Given the description of an element on the screen output the (x, y) to click on. 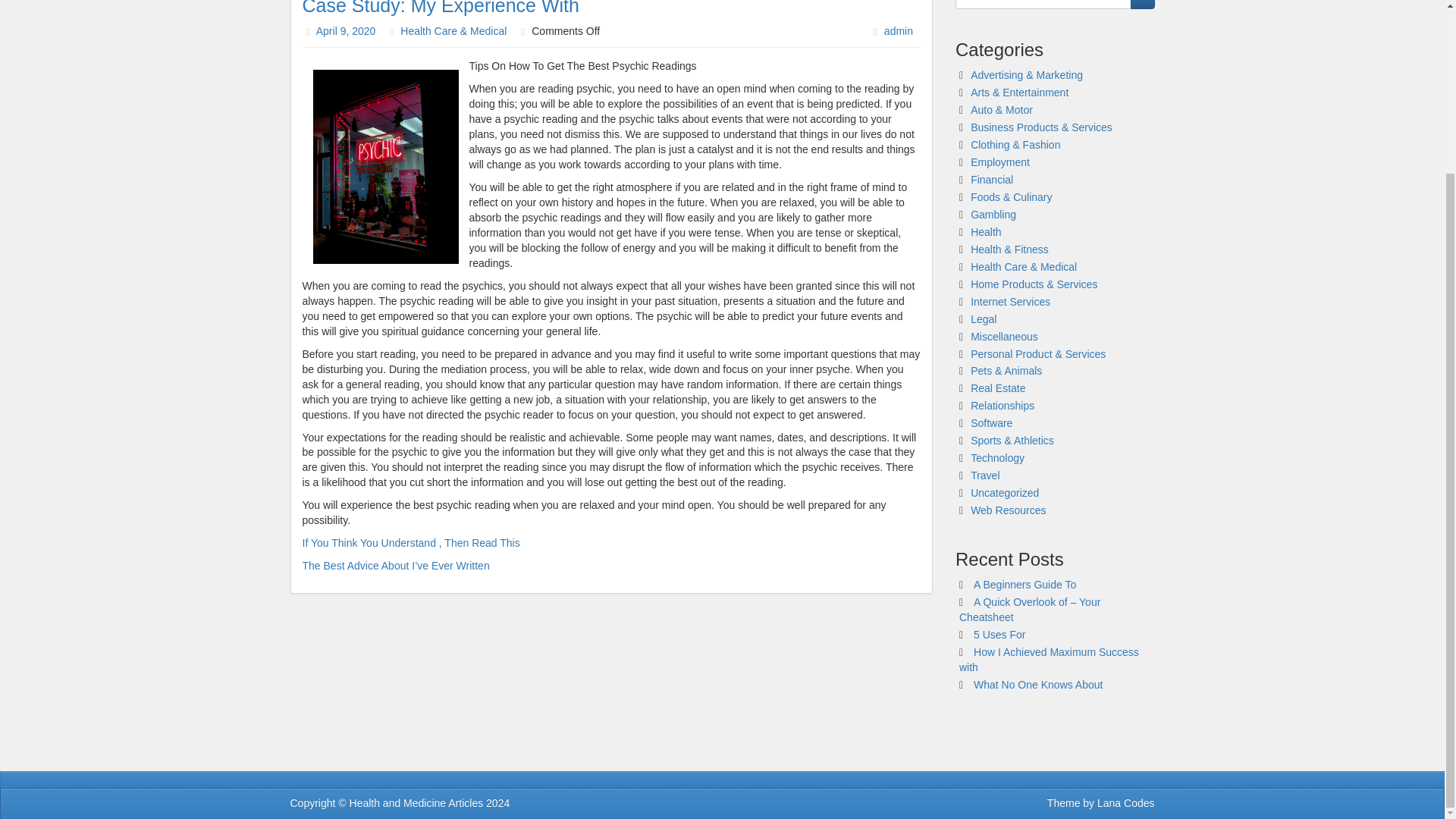
Real Estate (998, 387)
5 Uses For (999, 634)
Travel (984, 475)
Case Study: My Experience With (439, 7)
Legal (983, 318)
If You Think You Understand , Then Read This (410, 542)
How I Achieved Maximum Success with (1048, 659)
April 9, 2020 (345, 30)
Gambling (993, 214)
Relationships (1002, 405)
A Beginners Guide To (1024, 584)
Health (986, 232)
Web Resources (1008, 510)
Financial (992, 179)
Technology (998, 458)
